Given the description of an element on the screen output the (x, y) to click on. 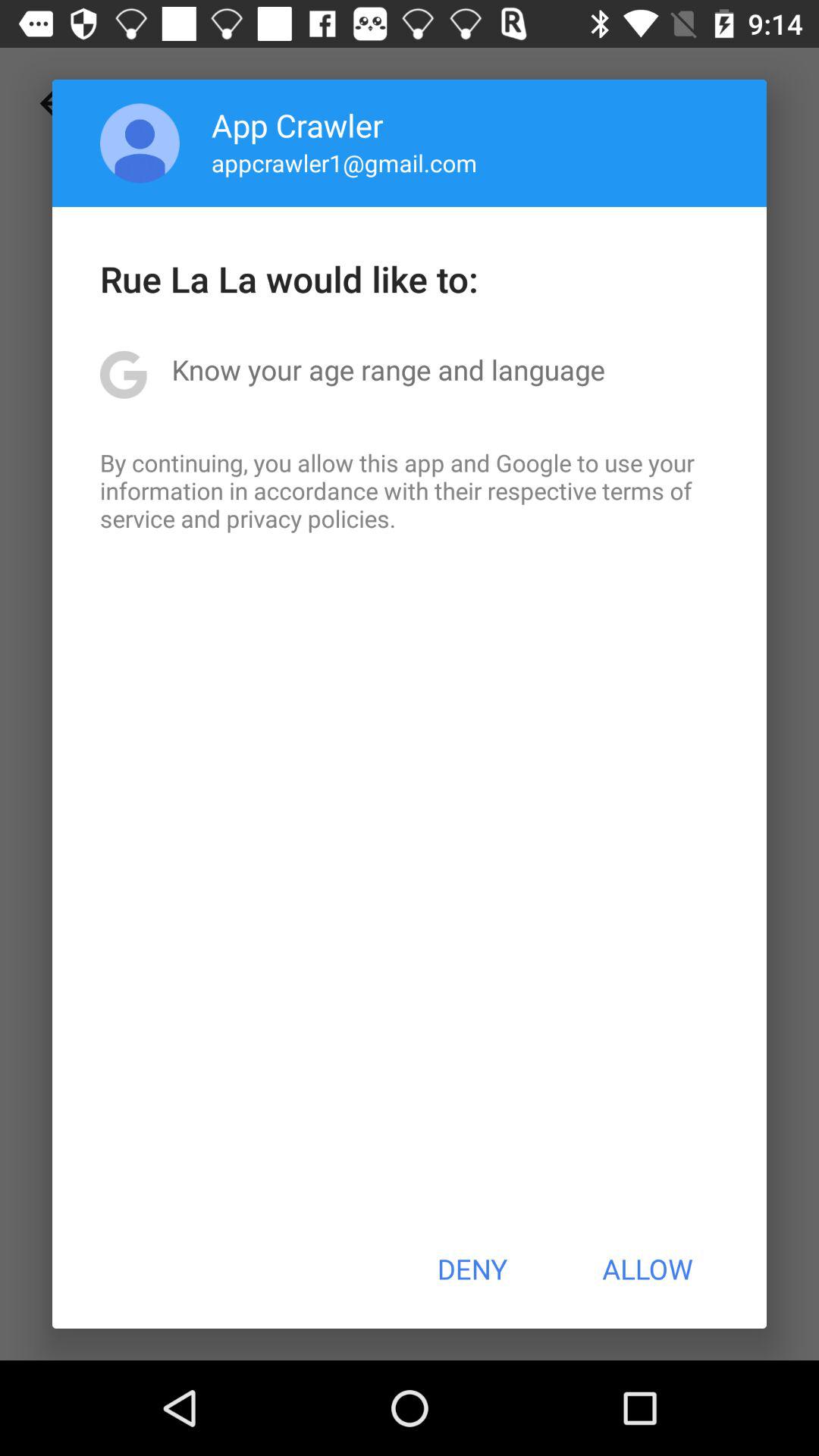
turn off the app next to app crawler app (139, 143)
